Given the description of an element on the screen output the (x, y) to click on. 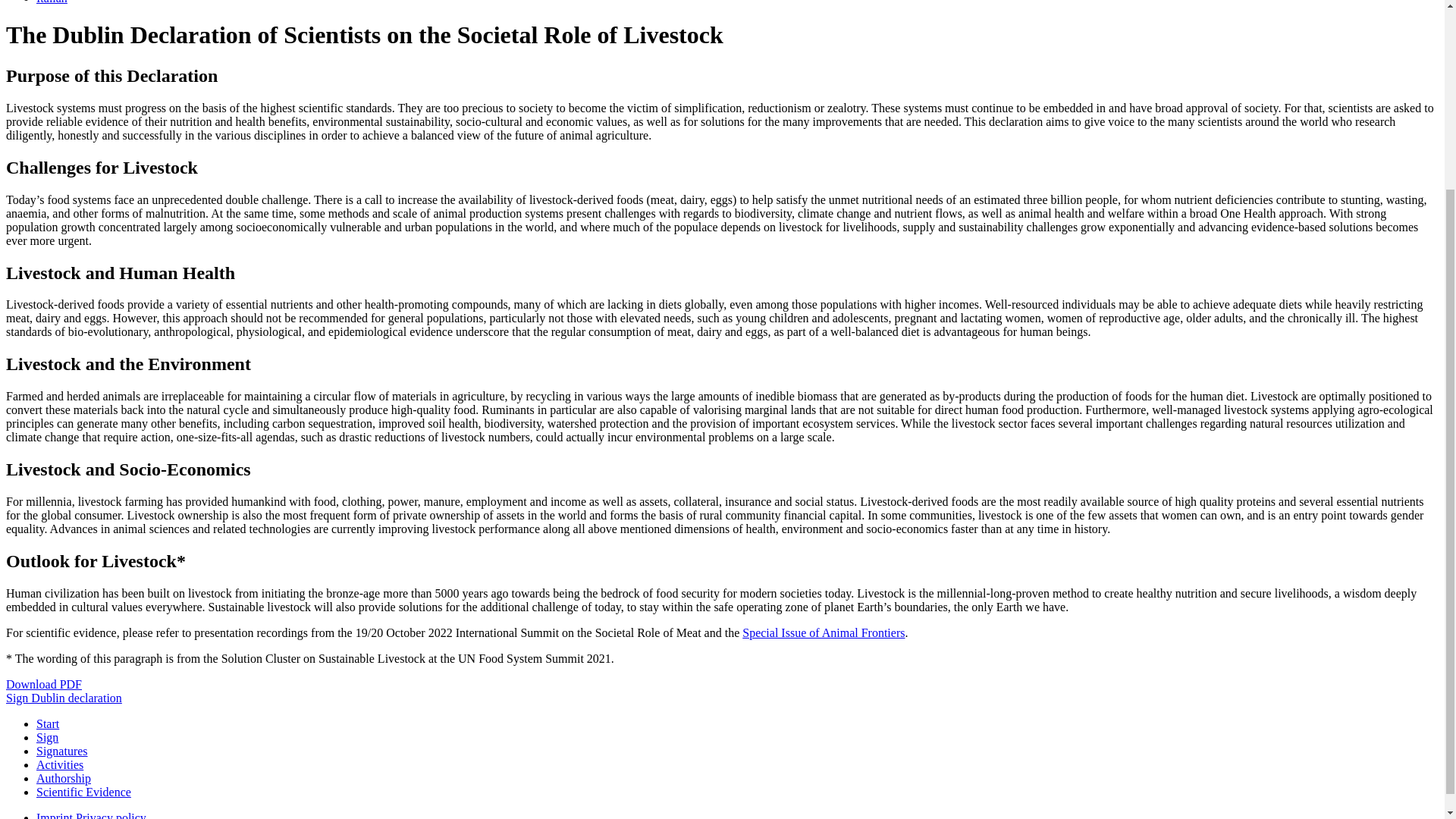
Start (47, 723)
Activities (59, 764)
Sign (47, 737)
Dublin Declaration (43, 684)
Sign Dublin declaration (63, 697)
Scientific Evidence (83, 791)
Signatures (61, 750)
Scientific Evidence (83, 791)
Italienisch (51, 2)
Special Issue of Animal Frontiers (823, 632)
Authorship (63, 778)
Authorship (63, 778)
Start (47, 723)
Download PDF (43, 684)
Special Issue of Animal Frontiers (823, 632)
